Given the description of an element on the screen output the (x, y) to click on. 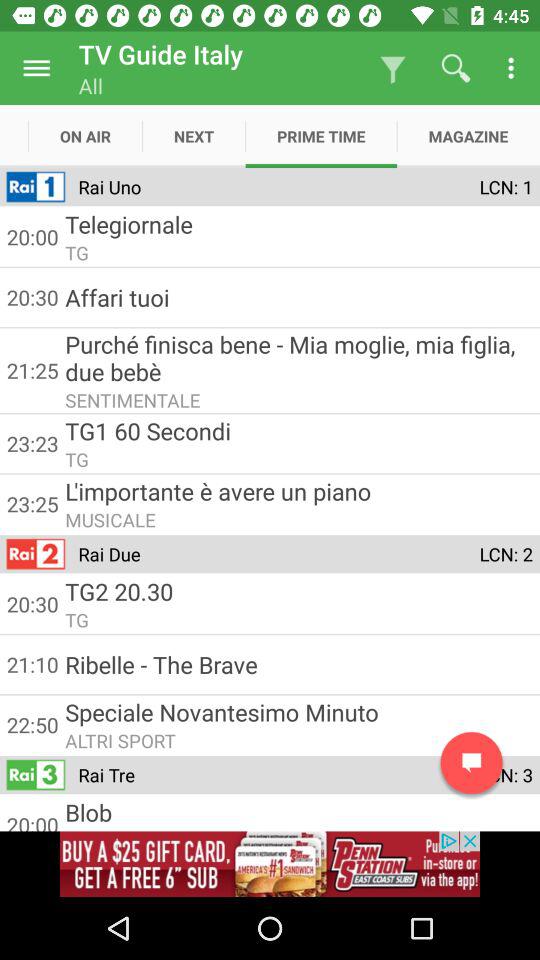
penn station link (270, 864)
